Given the description of an element on the screen output the (x, y) to click on. 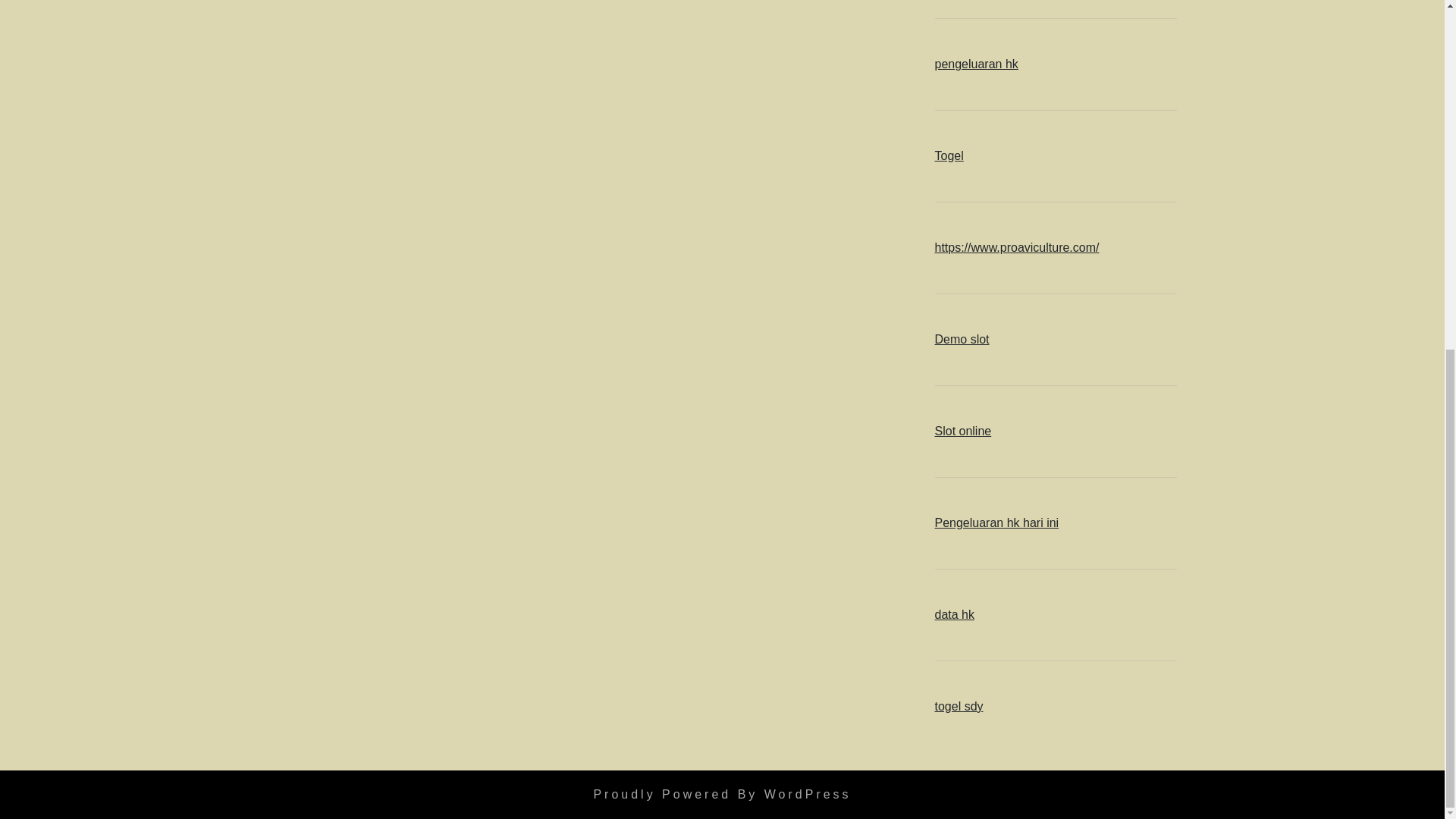
Togel (948, 155)
data hk (954, 614)
Slot online (962, 431)
Demo slot (961, 338)
togel sdy (958, 706)
Pengeluaran hk hari ini (996, 522)
pengeluaran hk (975, 63)
